Given the description of an element on the screen output the (x, y) to click on. 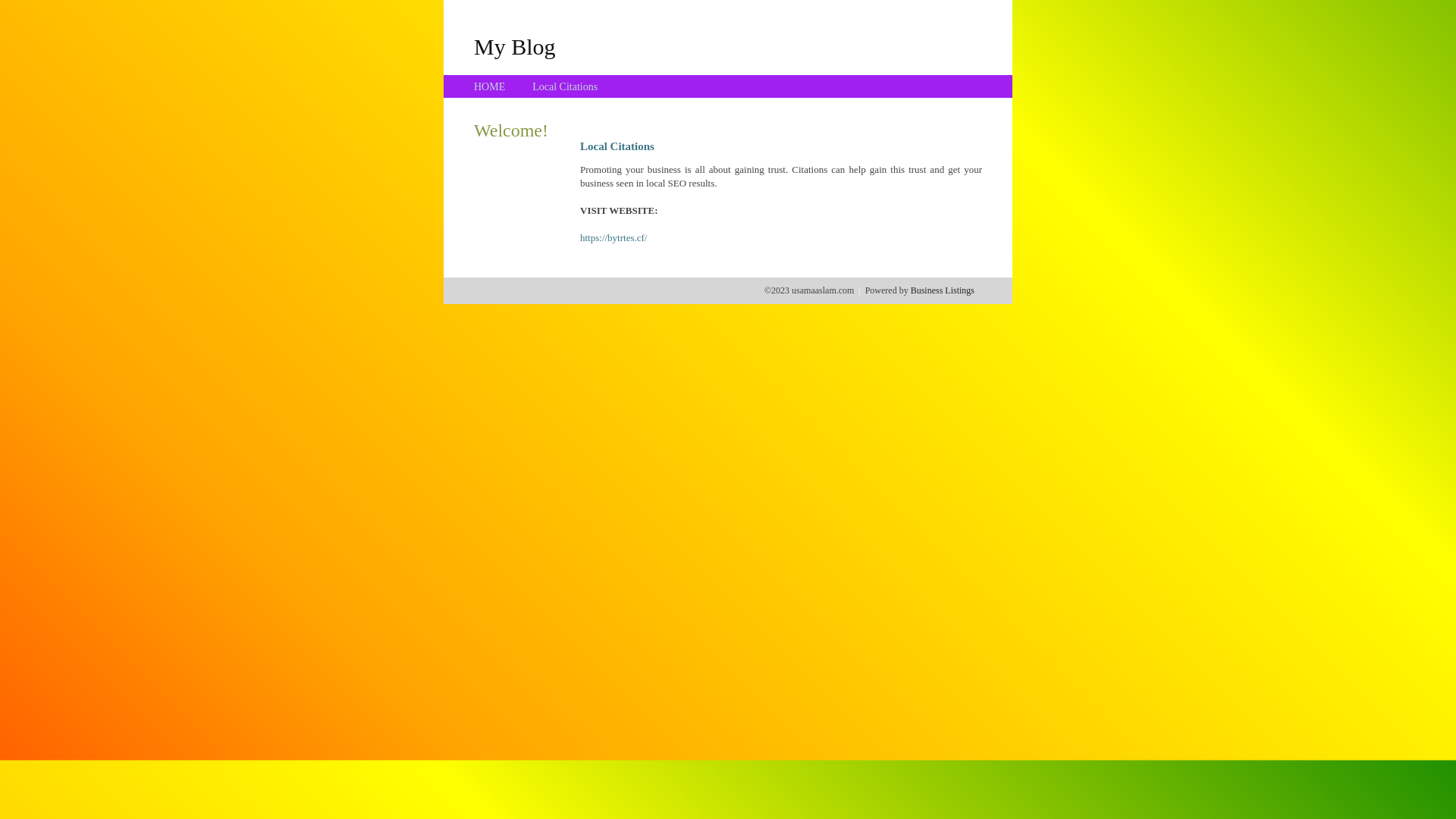
Local Citations Element type: text (564, 86)
https://bytrtes.cf/ Element type: text (613, 237)
Business Listings Element type: text (942, 290)
HOME Element type: text (489, 86)
My Blog Element type: text (514, 46)
